Given the description of an element on the screen output the (x, y) to click on. 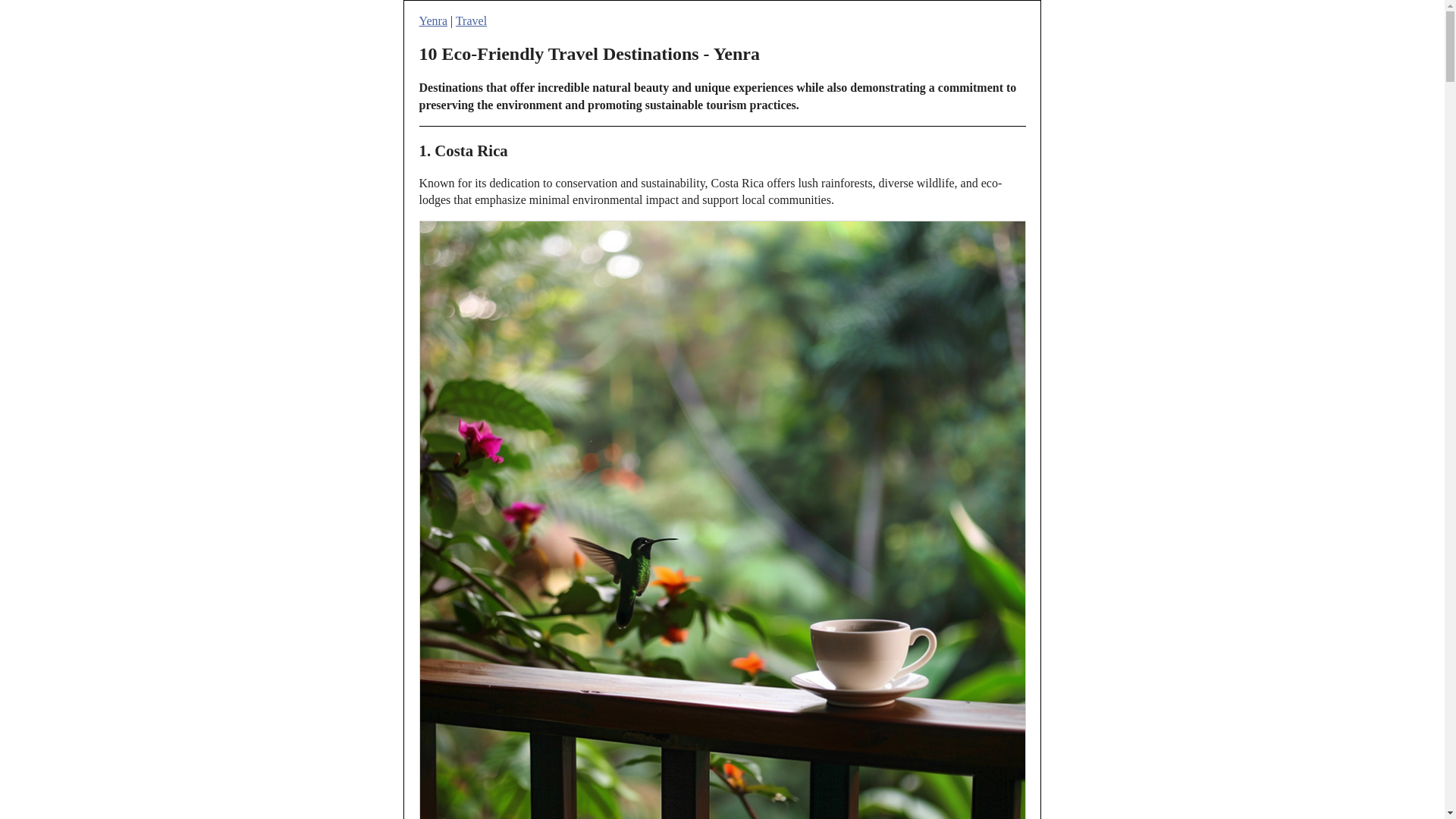
Yenra (432, 20)
Travel (470, 20)
